Given the description of an element on the screen output the (x, y) to click on. 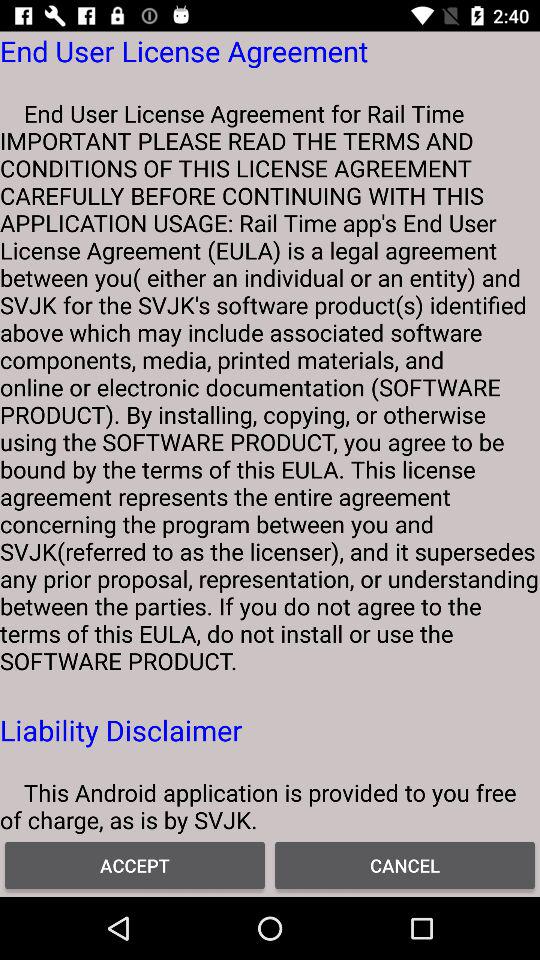
open the icon below this android application item (135, 864)
